Given the description of an element on the screen output the (x, y) to click on. 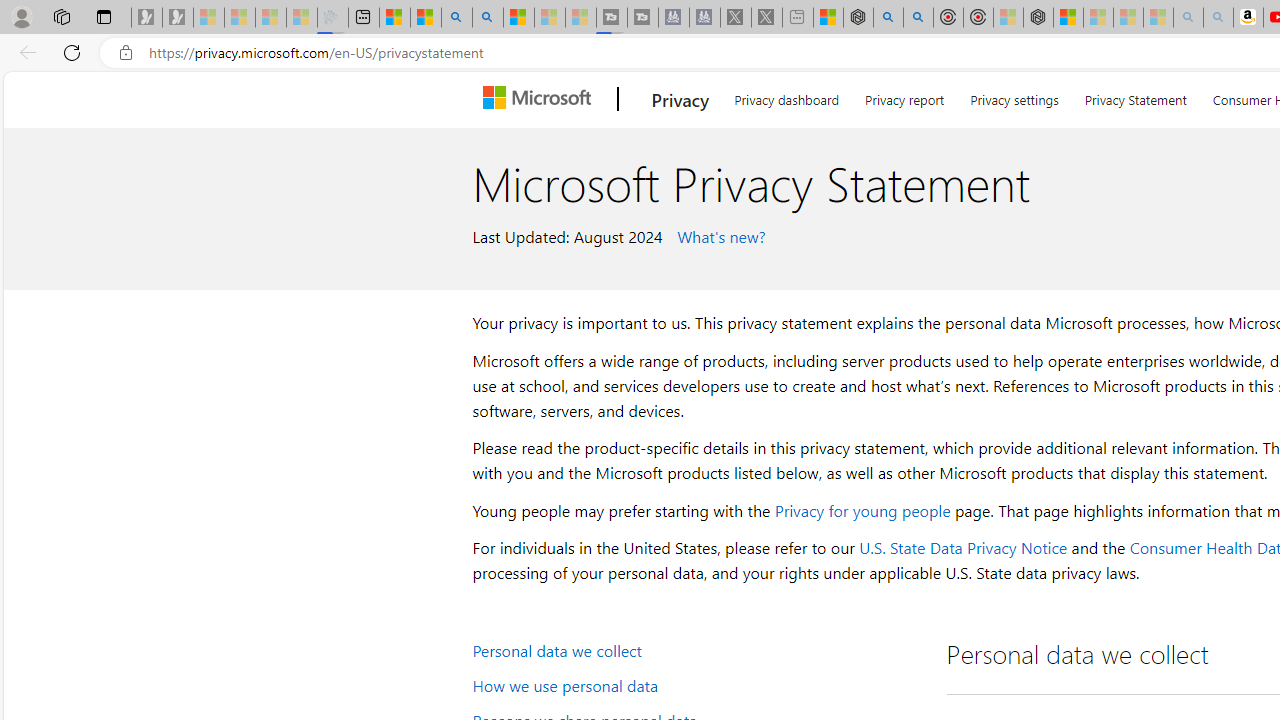
Privacy report (904, 96)
Privacy settings (1014, 96)
Privacy Statement (1135, 96)
U.S. State Data Privacy Notice (962, 547)
Privacy dashboard (786, 96)
Nordace - Nordace Siena Is Not An Ordinary Backpack (1038, 17)
